Given the description of an element on the screen output the (x, y) to click on. 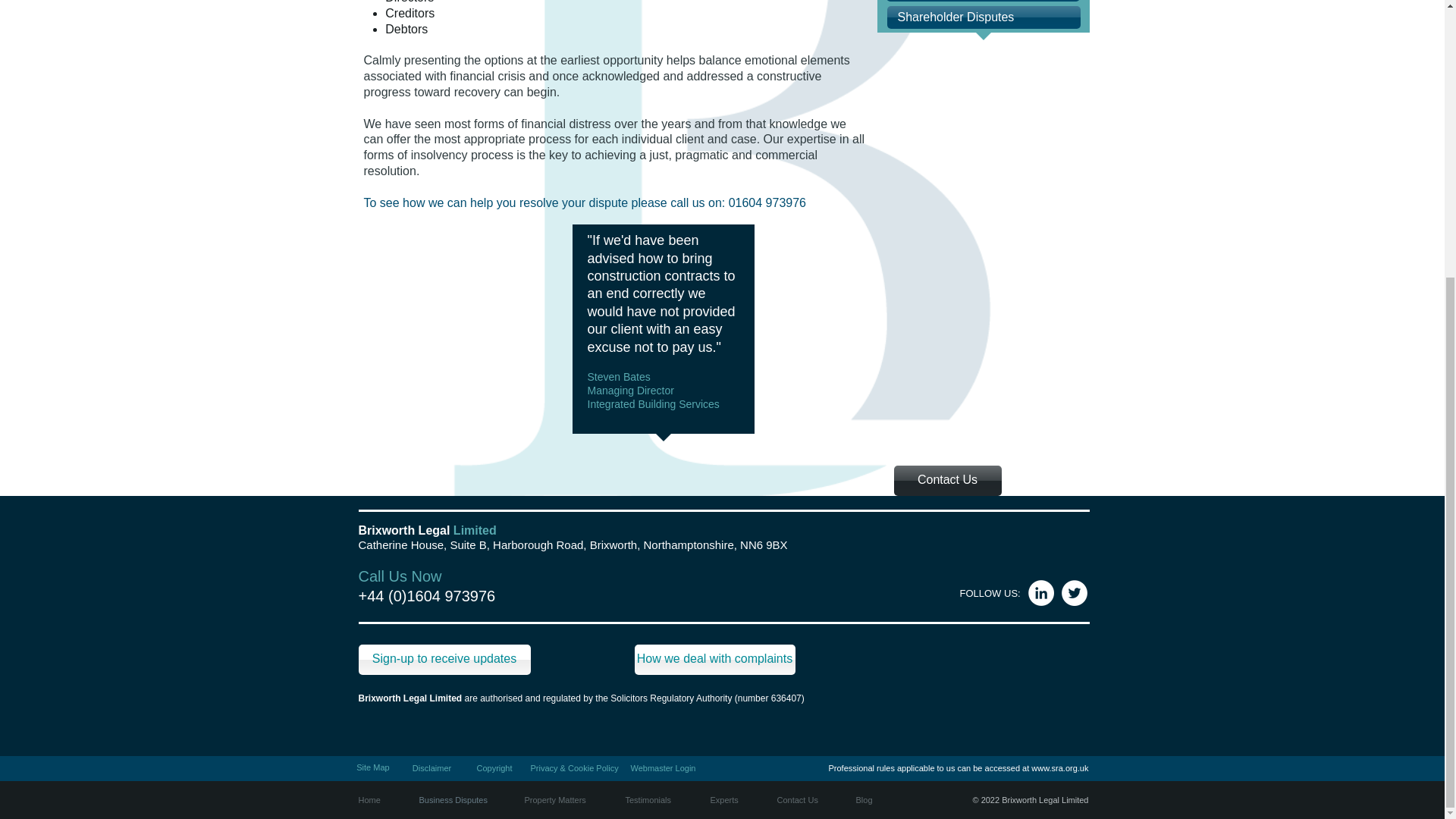
Embedded Content (1023, 683)
Contact Us (947, 481)
Shareholder Disputes (983, 16)
